Given the description of an element on the screen output the (x, y) to click on. 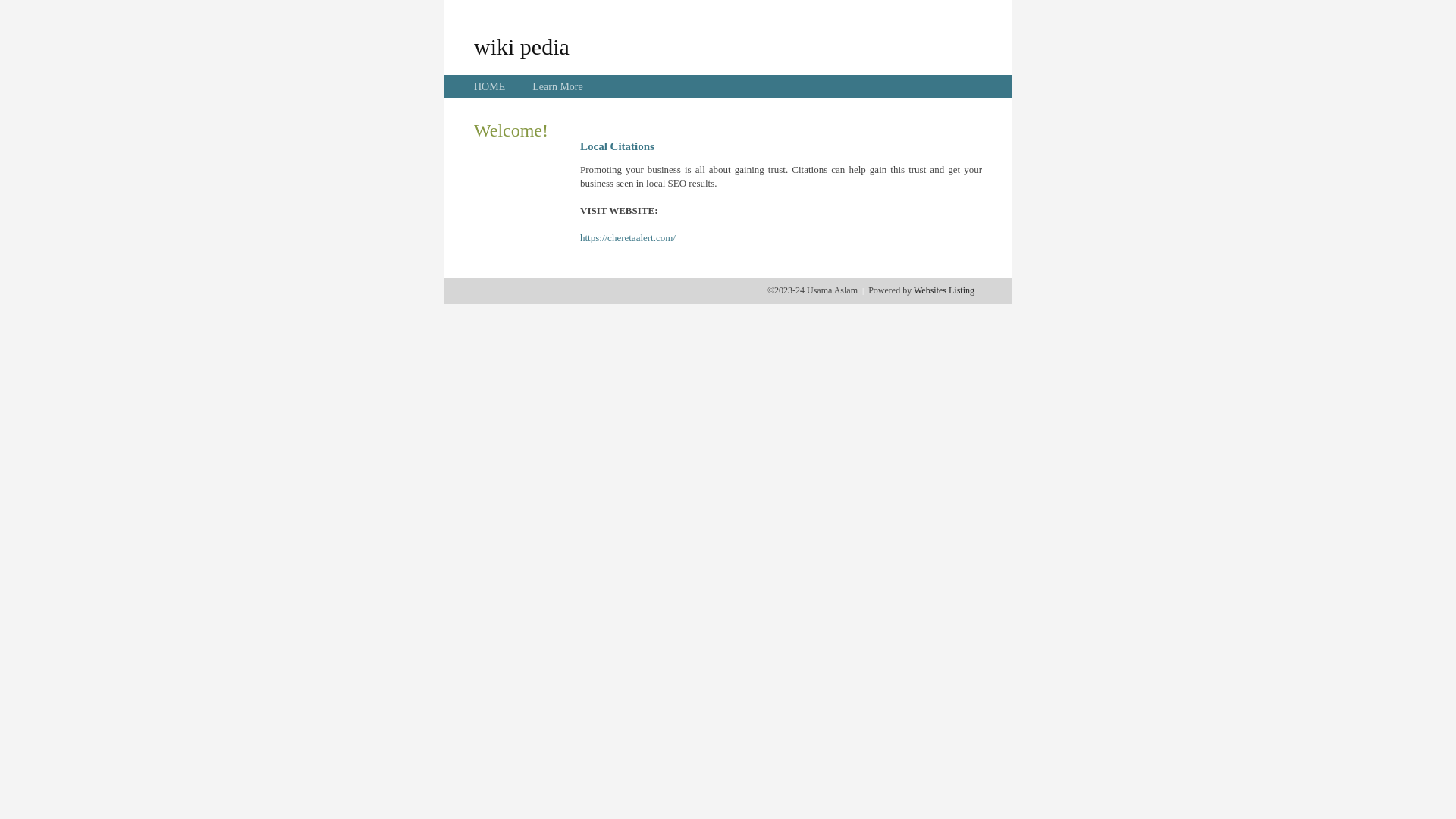
Websites Listing Element type: text (943, 290)
HOME Element type: text (489, 86)
wiki pedia Element type: text (521, 46)
Learn More Element type: text (557, 86)
https://cheretaalert.com/ Element type: text (627, 237)
